Given the description of an element on the screen output the (x, y) to click on. 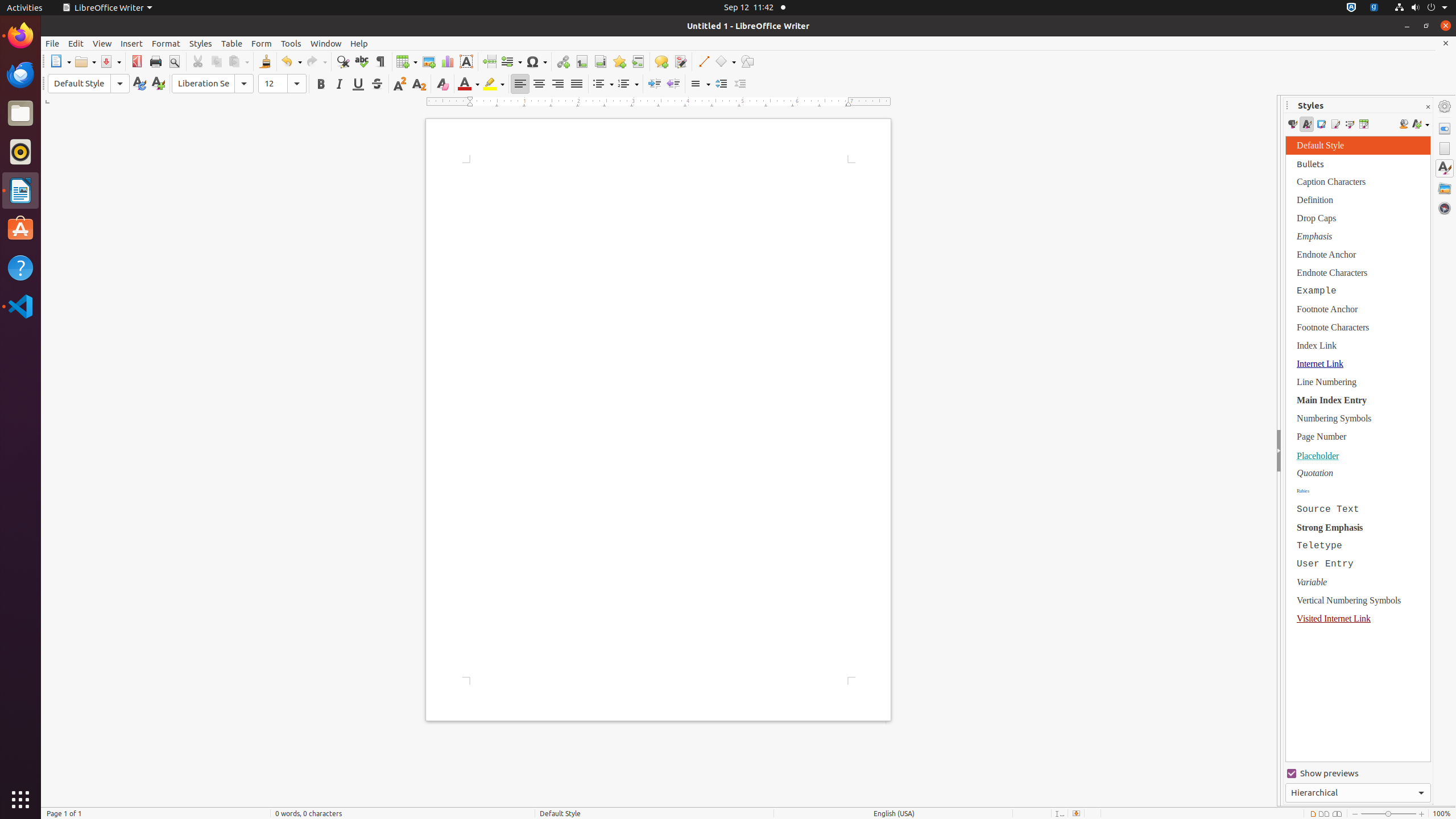
Clear Element type: push-button (441, 83)
Properties Element type: radio-button (1444, 128)
Page Styles Element type: push-button (1335, 123)
Superscript Element type: toggle-button (399, 83)
Font Size Element type: combo-box (282, 83)
